Given the description of an element on the screen output the (x, y) to click on. 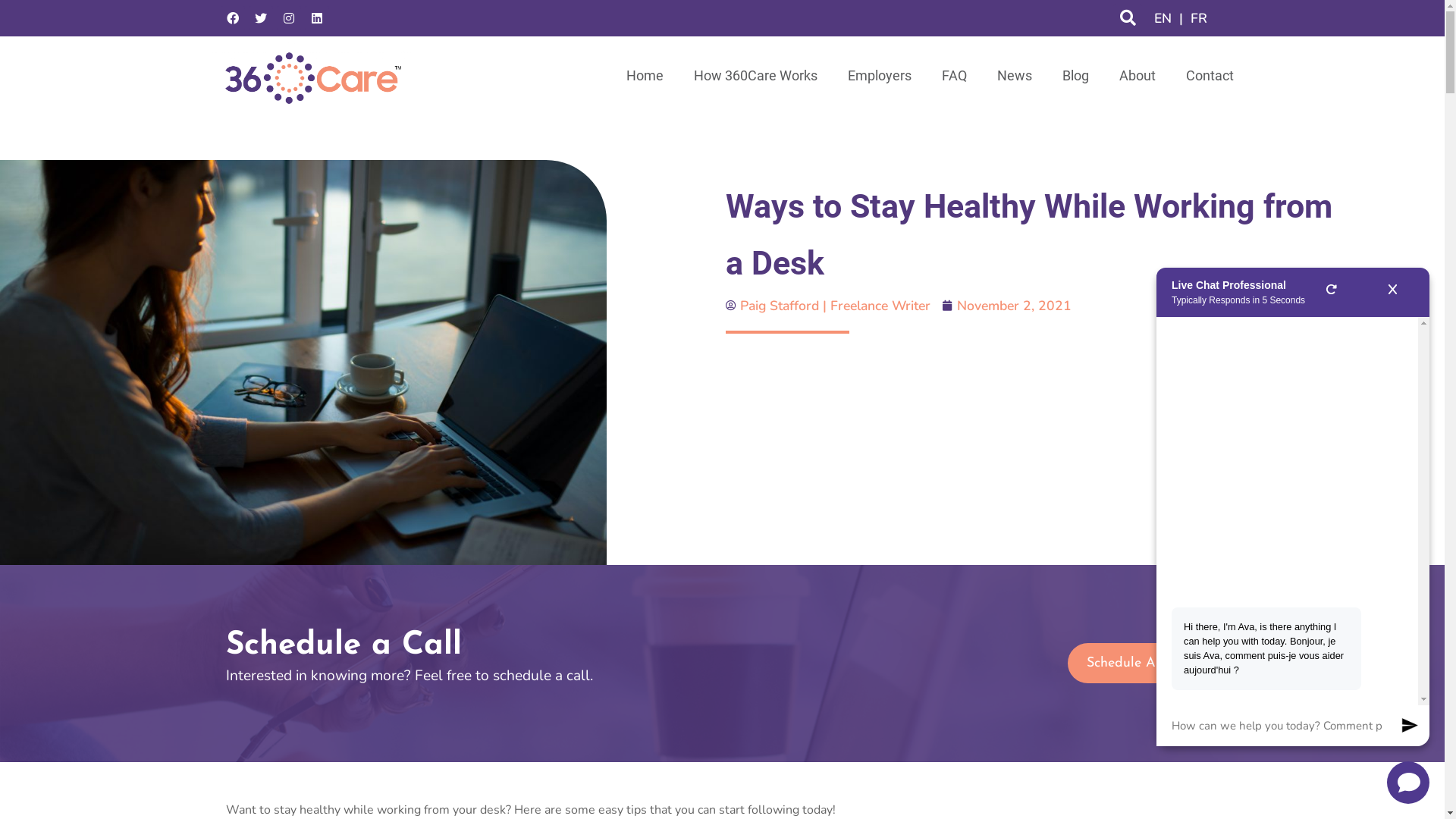
How 360Care Works Element type: text (754, 75)
November 2, 2021 Element type: text (1006, 305)
Home Element type: text (644, 75)
EN Element type: text (1162, 17)
Reset Conversation Element type: hover (1330, 292)
FR Element type: text (1198, 17)
Employers Element type: text (879, 75)
Close Element type: hover (1392, 292)
Schedule A Call Element type: text (1135, 663)
About Element type: text (1137, 75)
FAQ Element type: text (954, 75)
News Element type: text (1013, 75)
| Element type: text (1180, 17)
Paig Stafford | Freelance Writer Element type: text (827, 305)
Blog Element type: text (1074, 75)
Contact Element type: text (1209, 75)
